Given the description of an element on the screen output the (x, y) to click on. 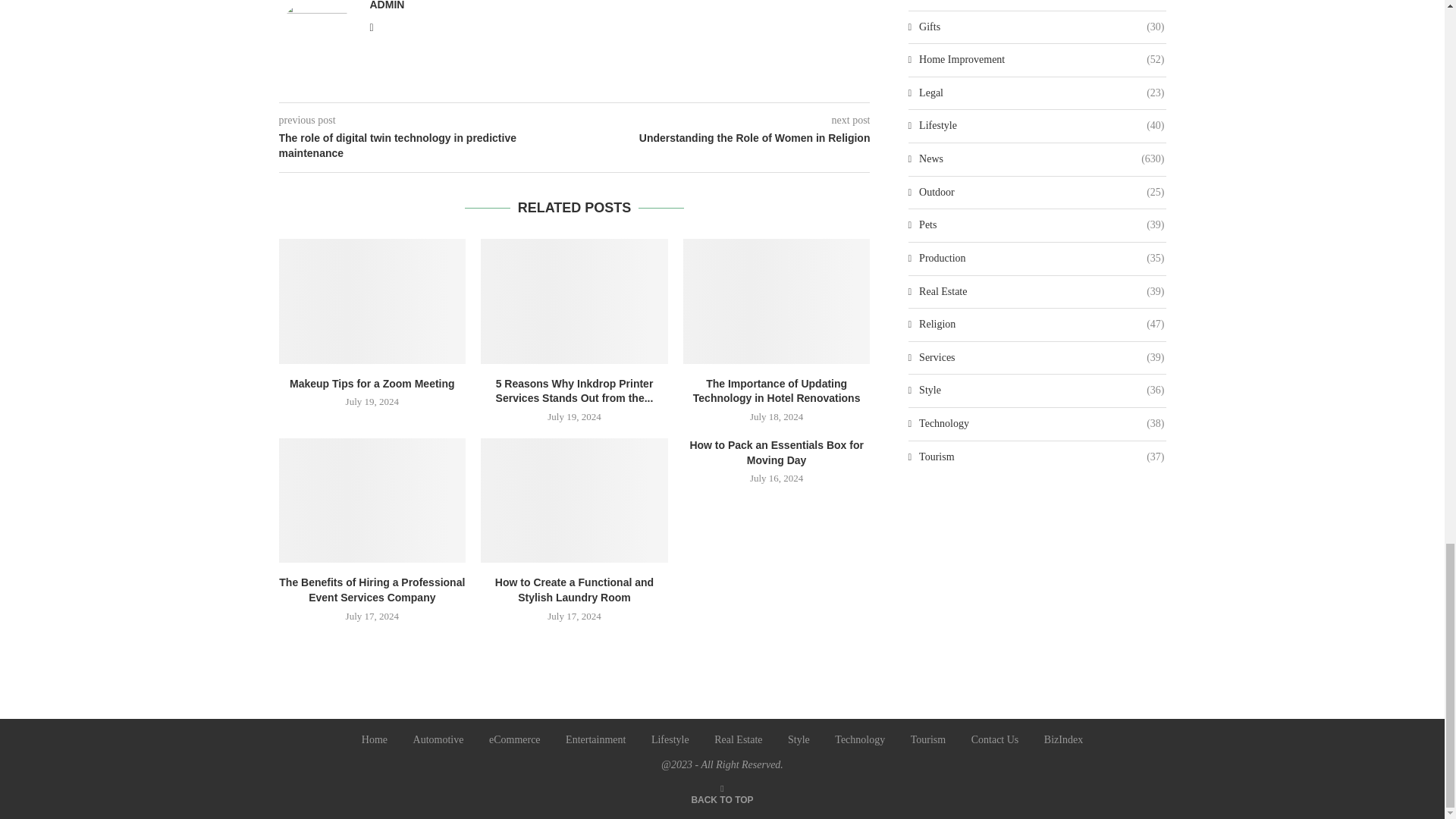
Makeup Tips for a Zoom Meeting (372, 301)
The Benefits of Hiring a Professional Event Services Company (372, 500)
How to Create a Functional and Stylish Laundry Room (574, 500)
Author admin (386, 5)
The Importance of Updating Technology in Hotel Renovations (776, 301)
